Given the description of an element on the screen output the (x, y) to click on. 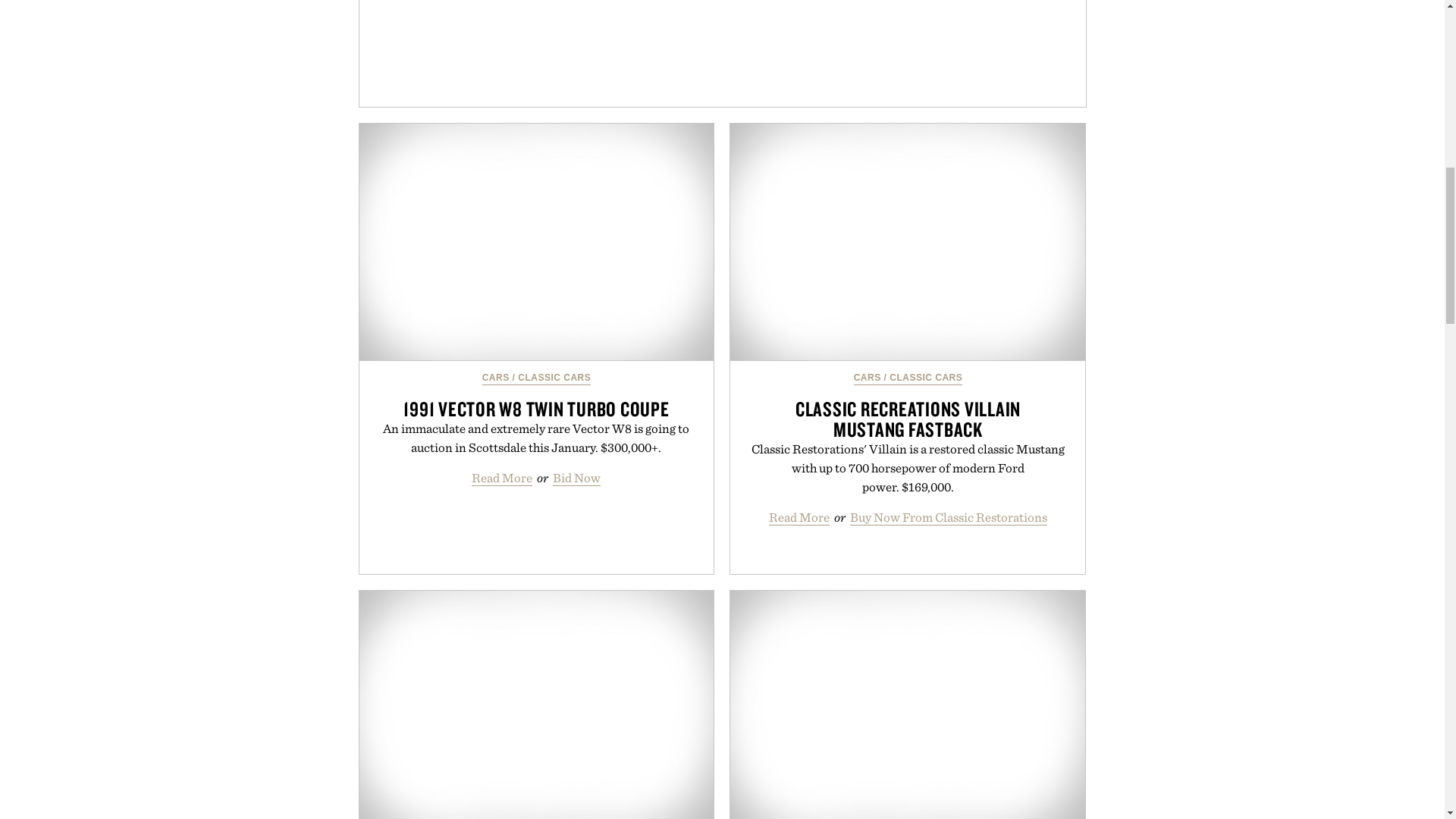
Ro Sparks (536, 704)
3rd party ad content (725, 53)
Classic Recreations Villain Mustang Fastback (907, 242)
1991 Vector W8 Twin Turbo Coupe (536, 242)
Nike Pegasus 41 Blueprint (907, 704)
